Given the description of an element on the screen output the (x, y) to click on. 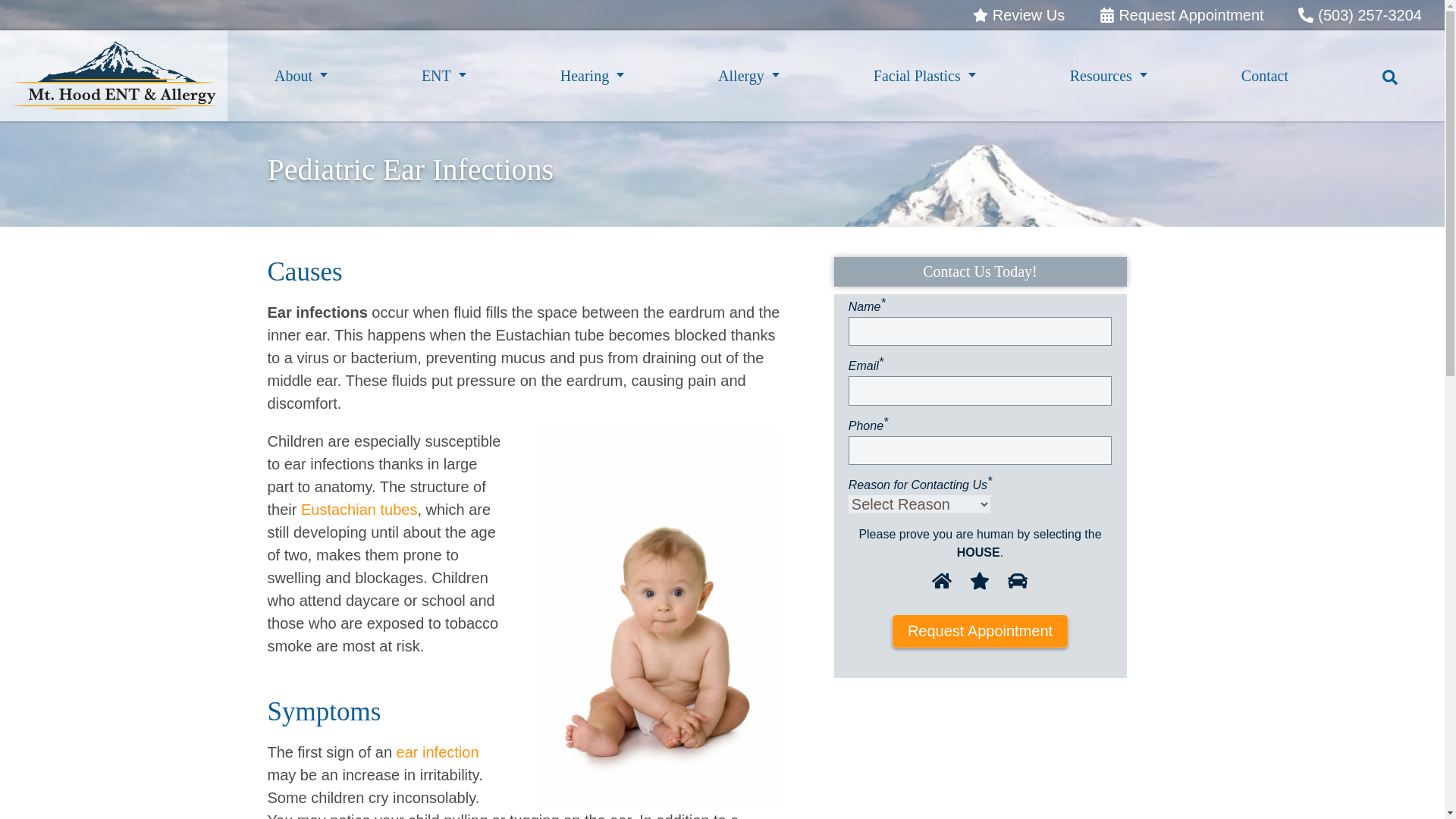
ENT (443, 75)
Request Appointment (1181, 15)
Review Us (1018, 15)
About (300, 75)
Request Appointment (1181, 15)
